Given the description of an element on the screen output the (x, y) to click on. 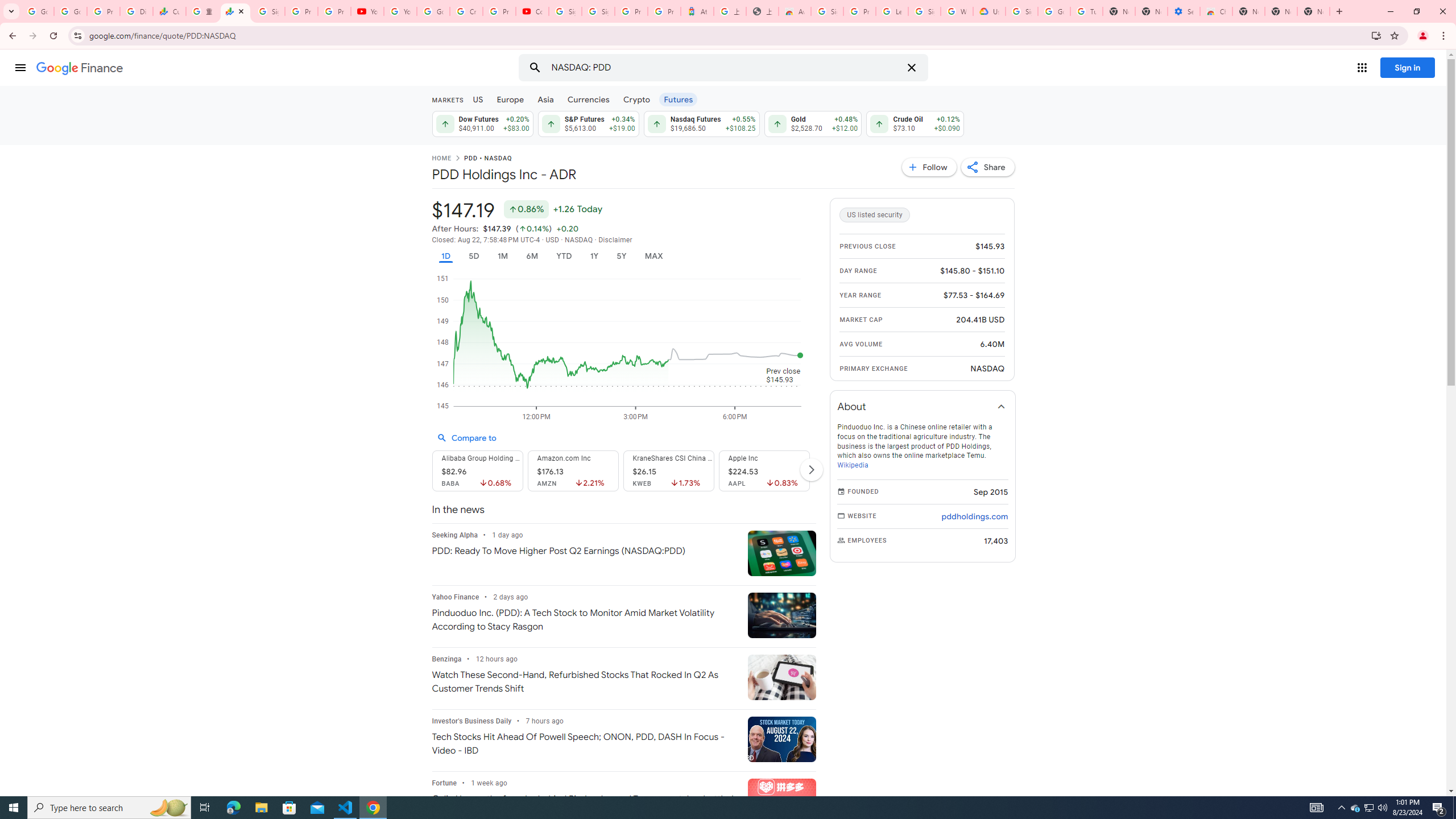
Address and search bar (726, 35)
Forward (32, 35)
Finance (79, 68)
Back (10, 35)
6M (531, 255)
Who are Google's partners? - Privacy and conditions - Google (957, 11)
Reload (52, 35)
Create your Google Account (465, 11)
Turn cookies on or off - Computer - Google Account Help (1086, 11)
Crypto (636, 99)
Sign in - Google Accounts (827, 11)
